Given the description of an element on the screen output the (x, y) to click on. 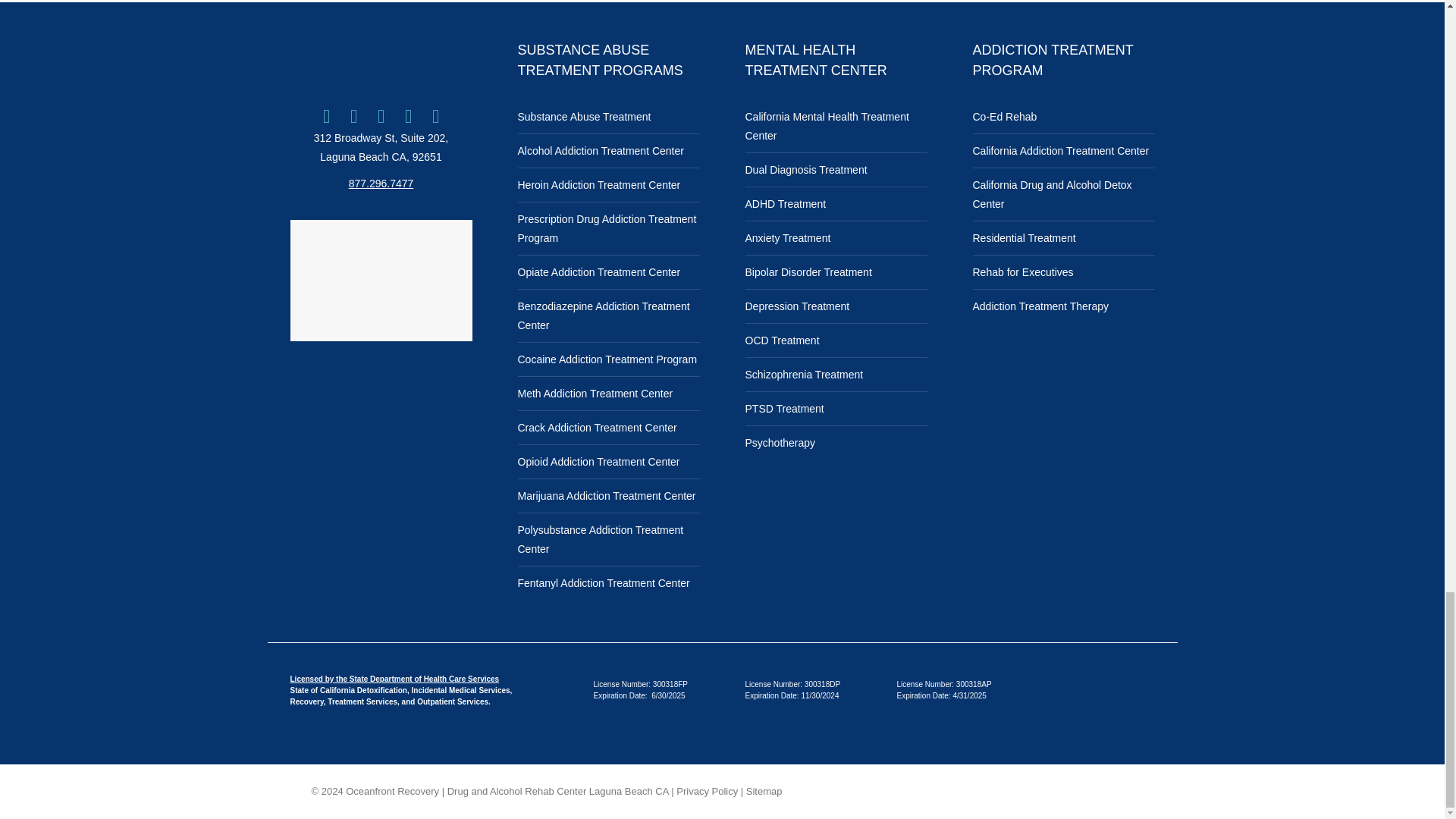
Instagram (381, 116)
Ocean-Recovery-Logo-450 (380, 60)
Pinterest (435, 116)
YouTube (408, 116)
Twitter (353, 116)
Facebook (326, 116)
